Given the description of an element on the screen output the (x, y) to click on. 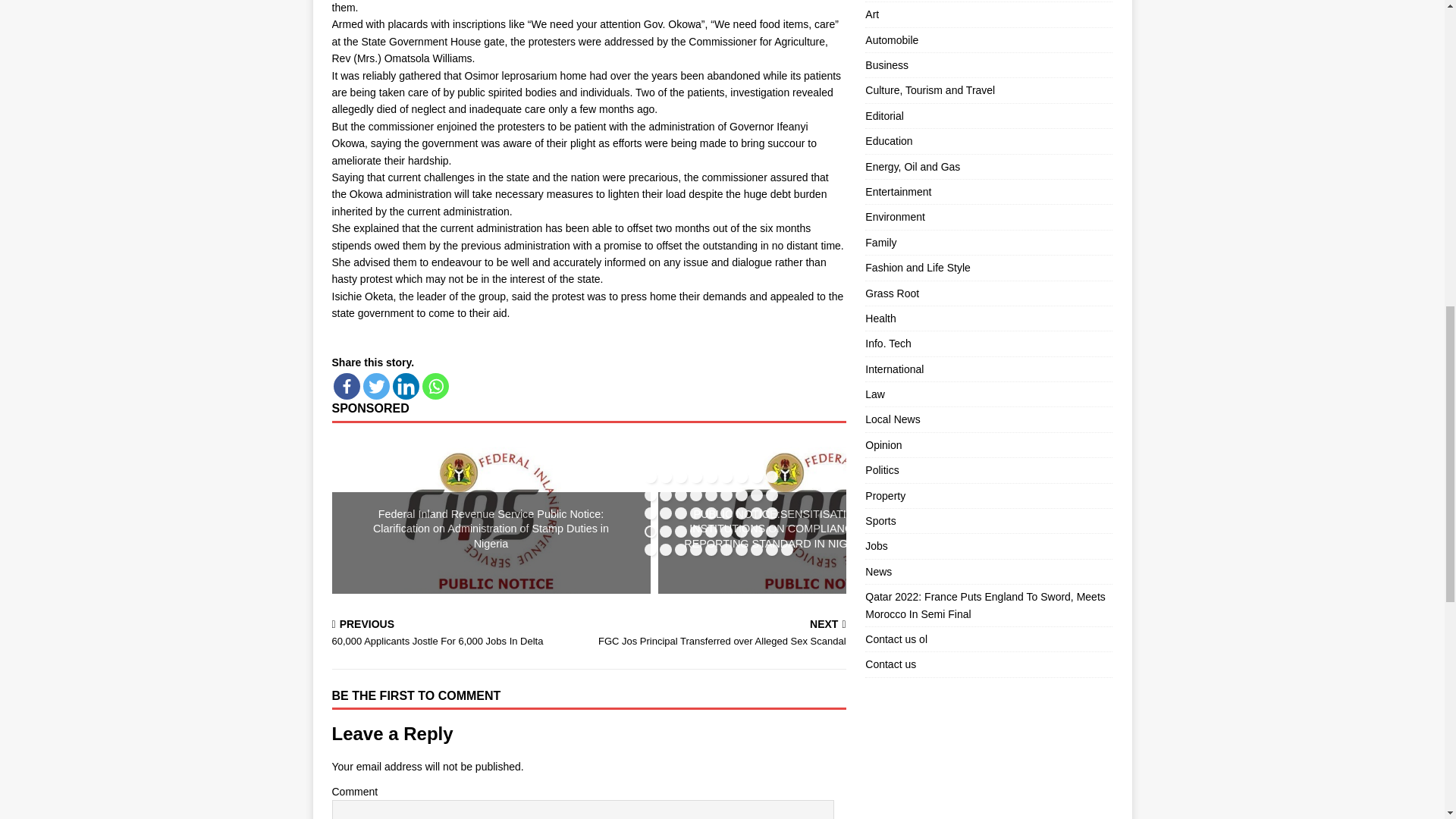
FIRS public notice (490, 515)
Linkedin (406, 386)
FIRS public notice (817, 515)
Whatsapp (435, 386)
Facebook (346, 386)
Twitter (375, 386)
